Given the description of an element on the screen output the (x, y) to click on. 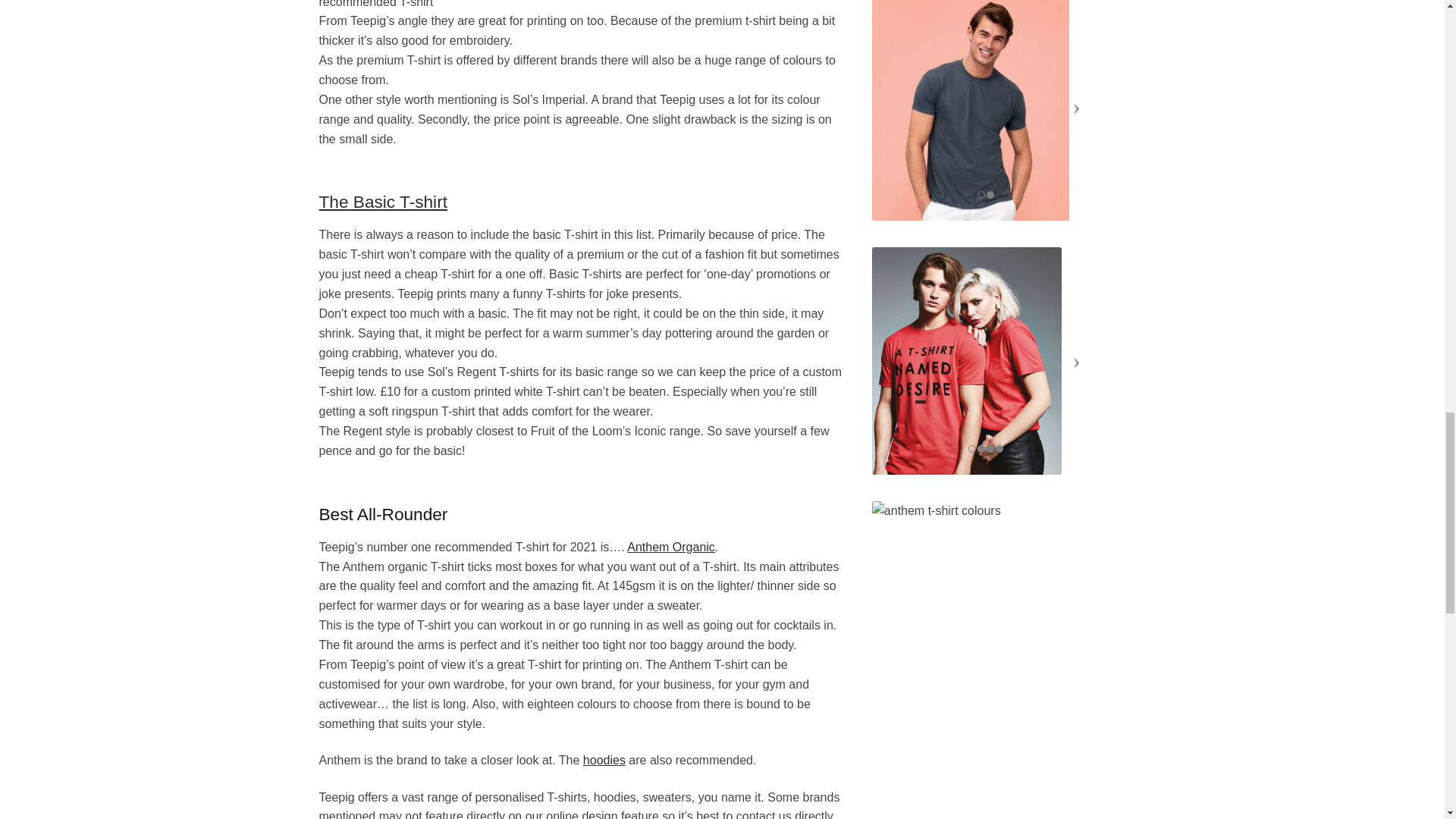
341-2 (970, 110)
anthem t-shirts (985, 595)
